Given the description of an element on the screen output the (x, y) to click on. 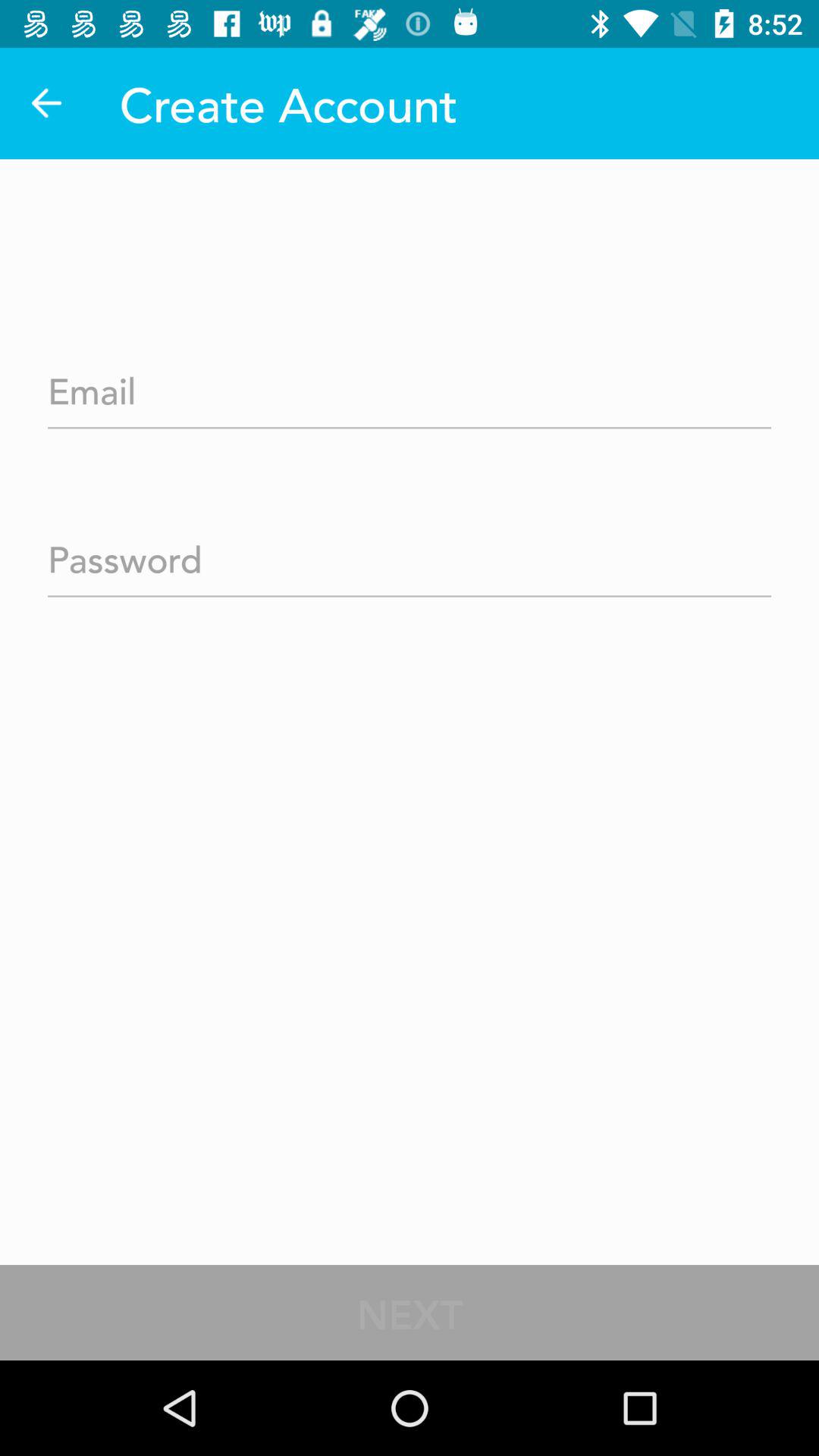
password (409, 554)
